Given the description of an element on the screen output the (x, y) to click on. 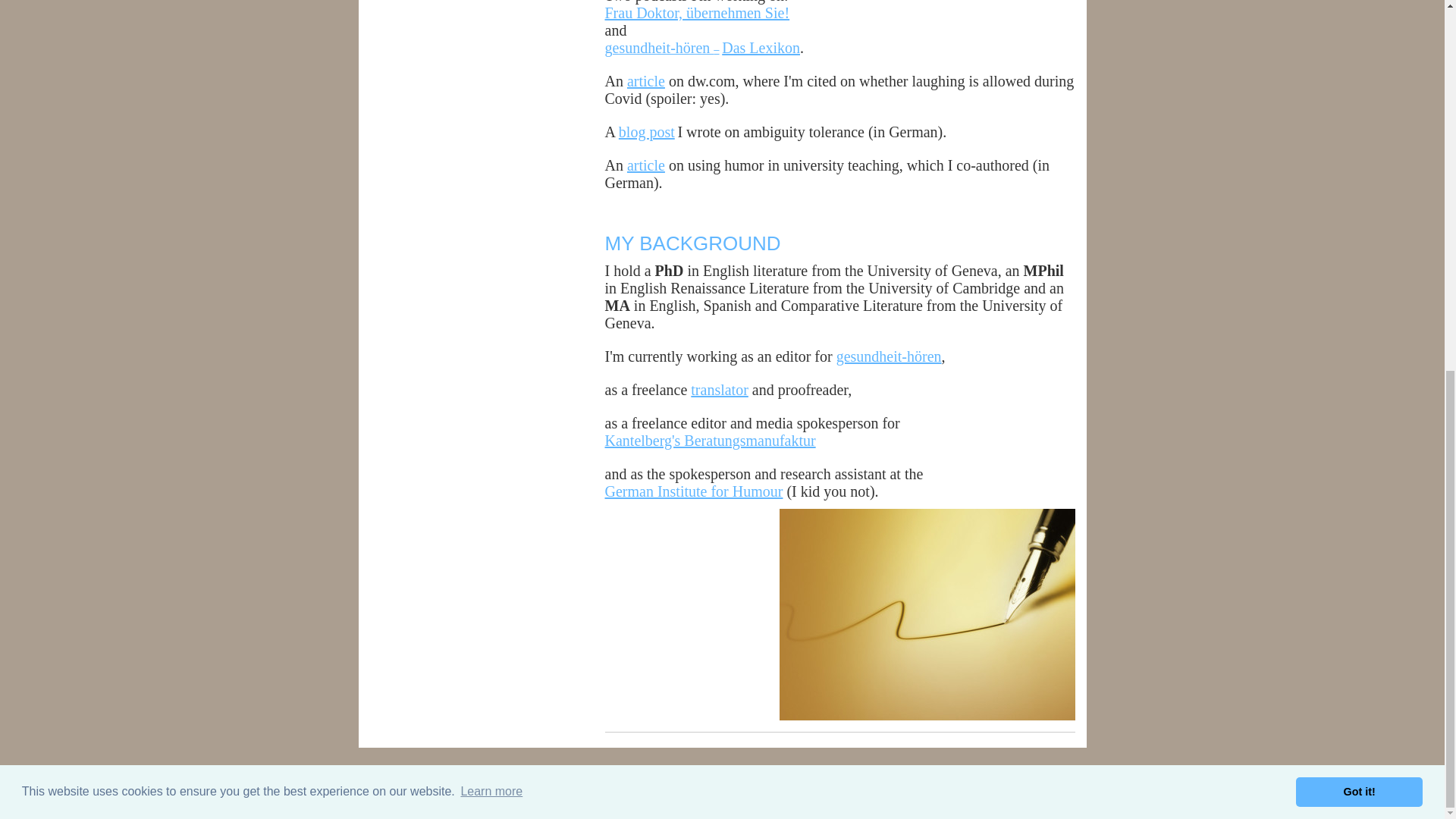
Druckversion (398, 785)
translator (719, 389)
blog post (646, 131)
Login (1068, 782)
Sitemap (452, 785)
Kantelberg's Beratungsmanufaktur (710, 440)
Got it! (1358, 117)
article (646, 165)
German Institute for Humour (694, 491)
Learn more (491, 117)
Das Lexikon (760, 47)
article (646, 80)
